Given the description of an element on the screen output the (x, y) to click on. 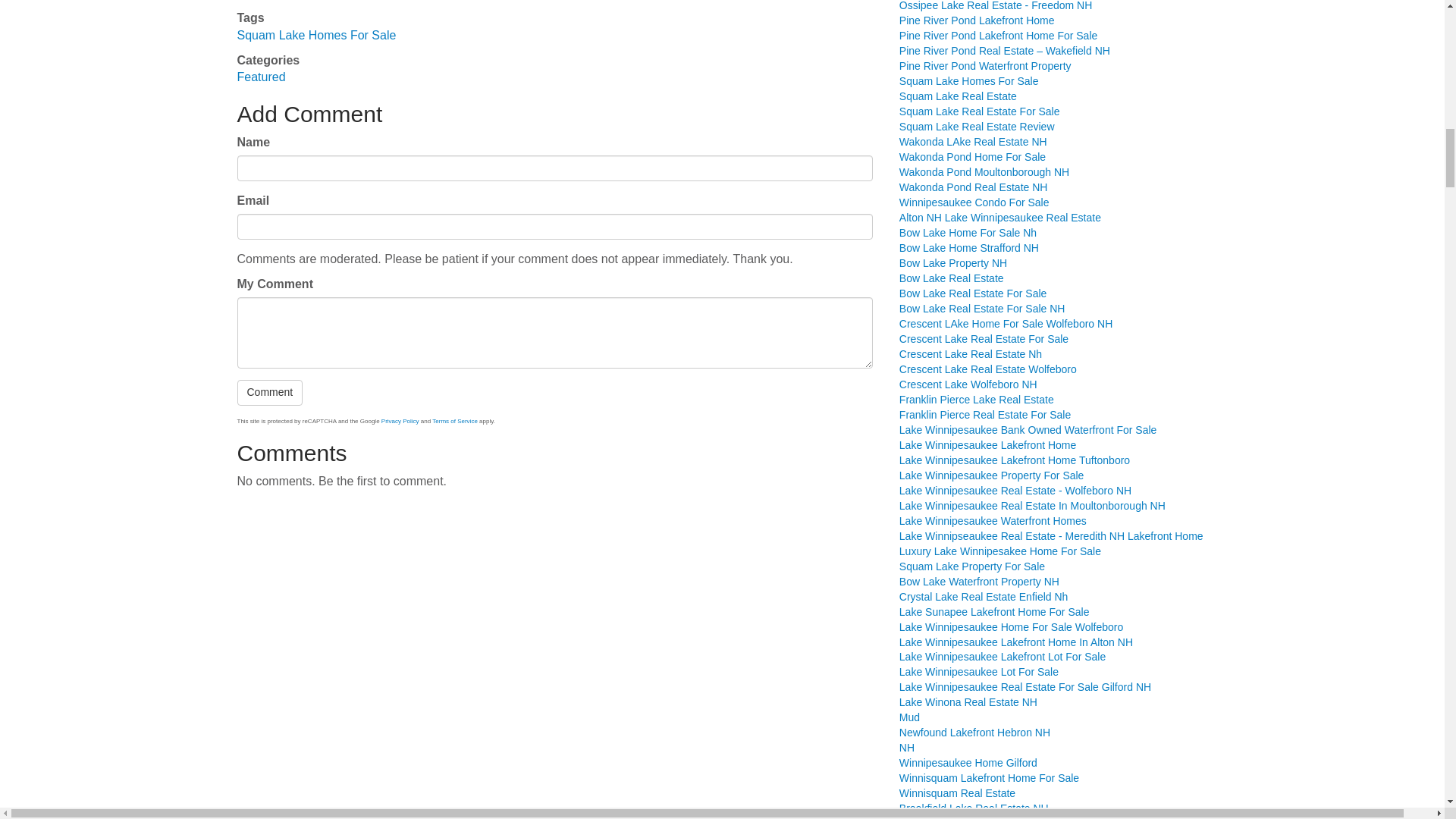
Comment (268, 392)
